Given the description of an element on the screen output the (x, y) to click on. 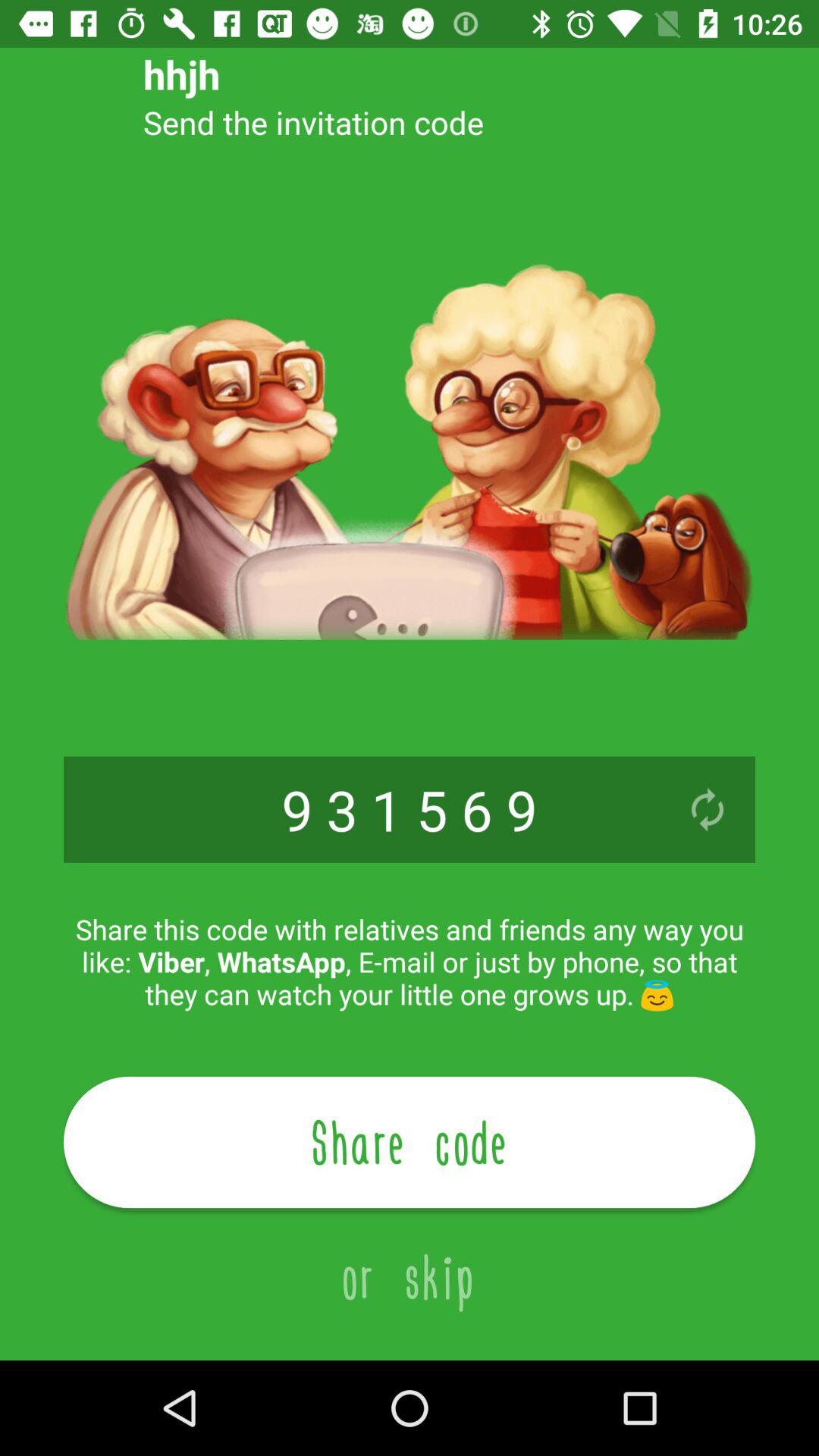
turn on the or skip item (409, 1260)
